Given the description of an element on the screen output the (x, y) to click on. 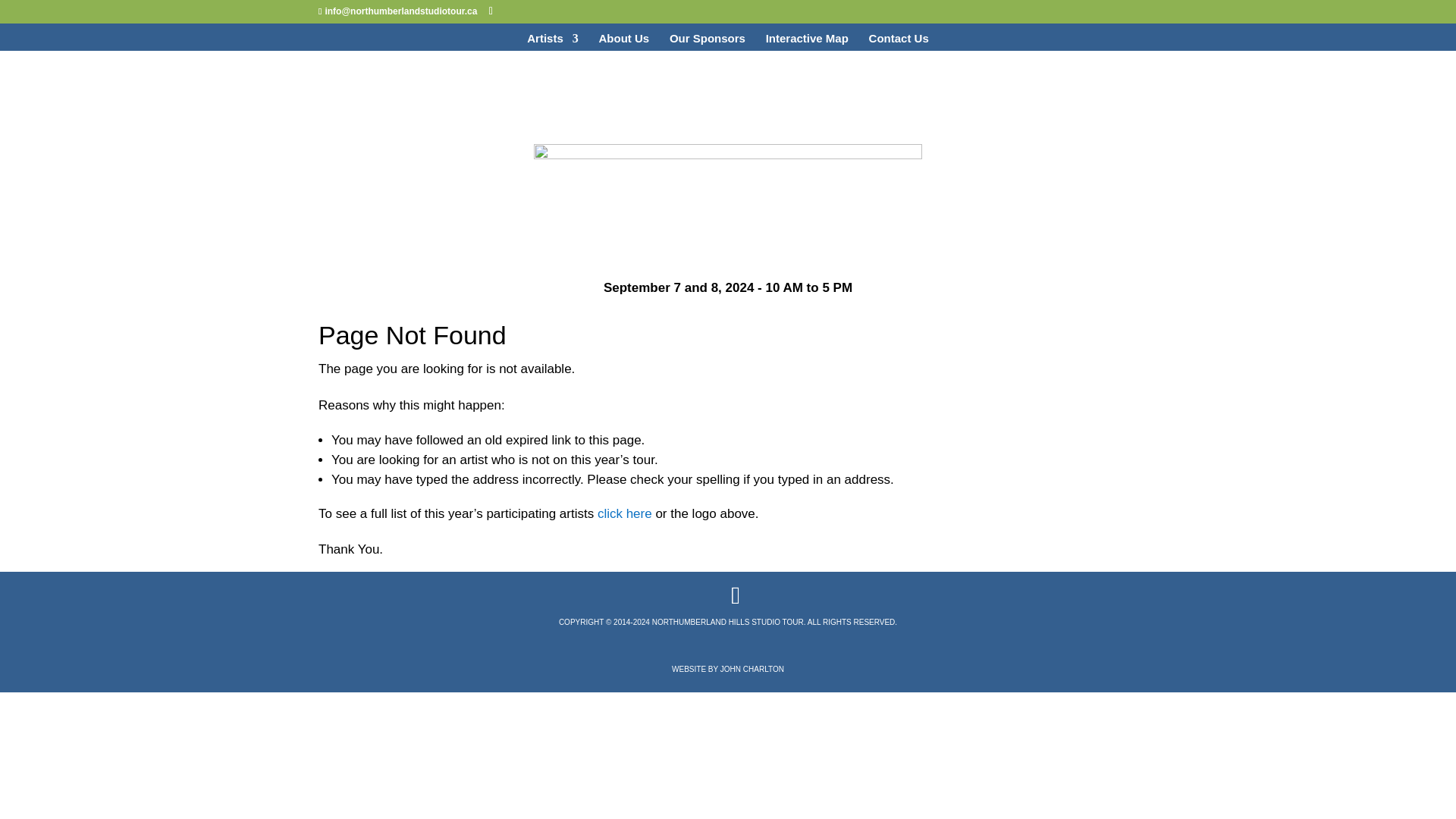
Our Sponsors (707, 41)
Artists (552, 41)
About Us (623, 41)
Interactive Map (806, 41)
Contact Us (898, 41)
